Given the description of an element on the screen output the (x, y) to click on. 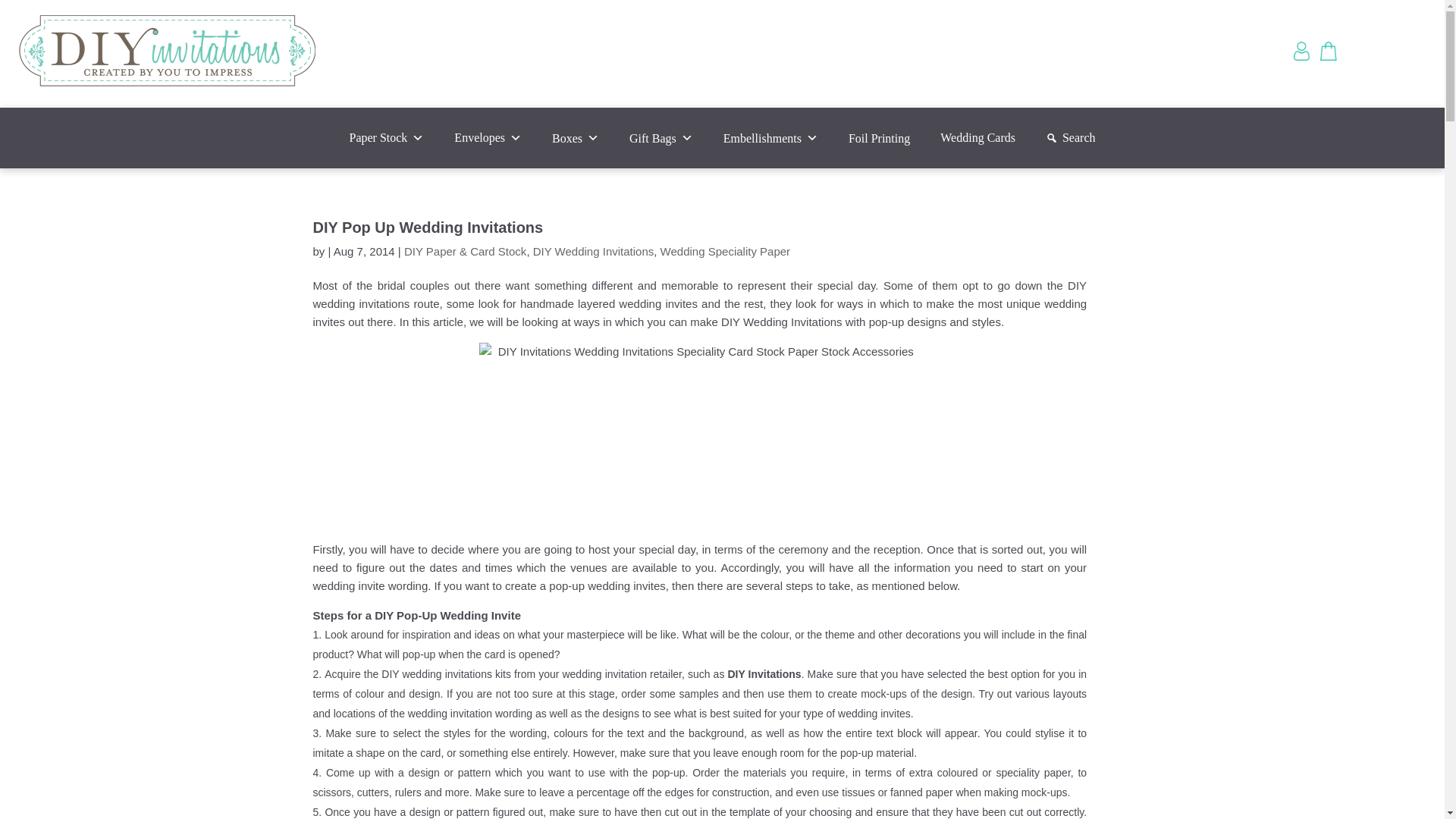
Paper Stock (386, 137)
Envelopes (488, 137)
Boxes (575, 137)
DIY-invitations-logo (167, 53)
shopping-bag (1329, 50)
